Given the description of an element on the screen output the (x, y) to click on. 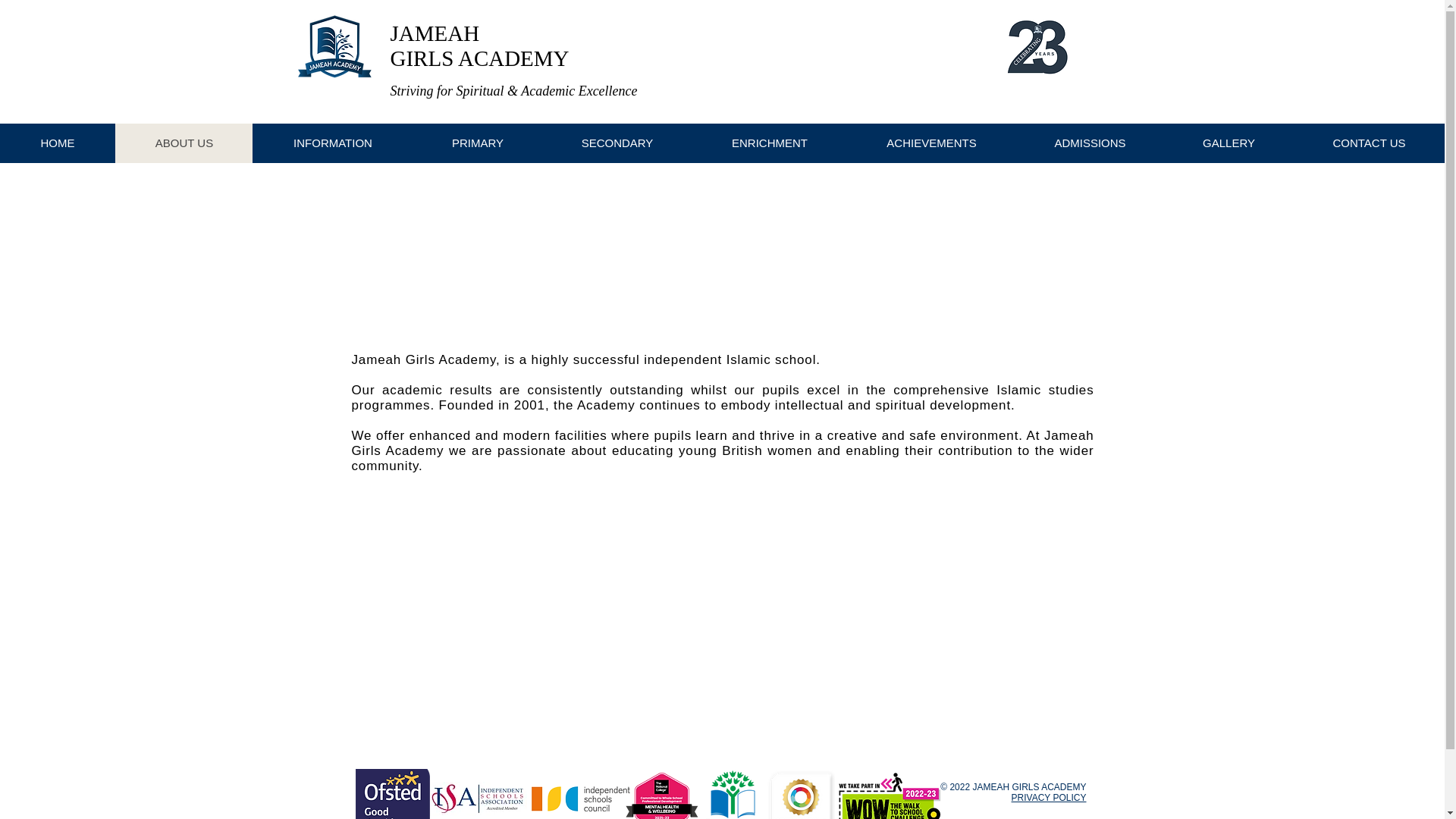
SECONDARY (616, 142)
Celebrating 23 years.png (1036, 46)
INFORMATION (331, 142)
HOME (57, 142)
PRIMARY (476, 142)
ENRICHMENT (769, 142)
Twitter Follow (1037, 108)
Final-final-final-logo1.png (338, 46)
ABOUT US (183, 142)
